Given the description of an element on the screen output the (x, y) to click on. 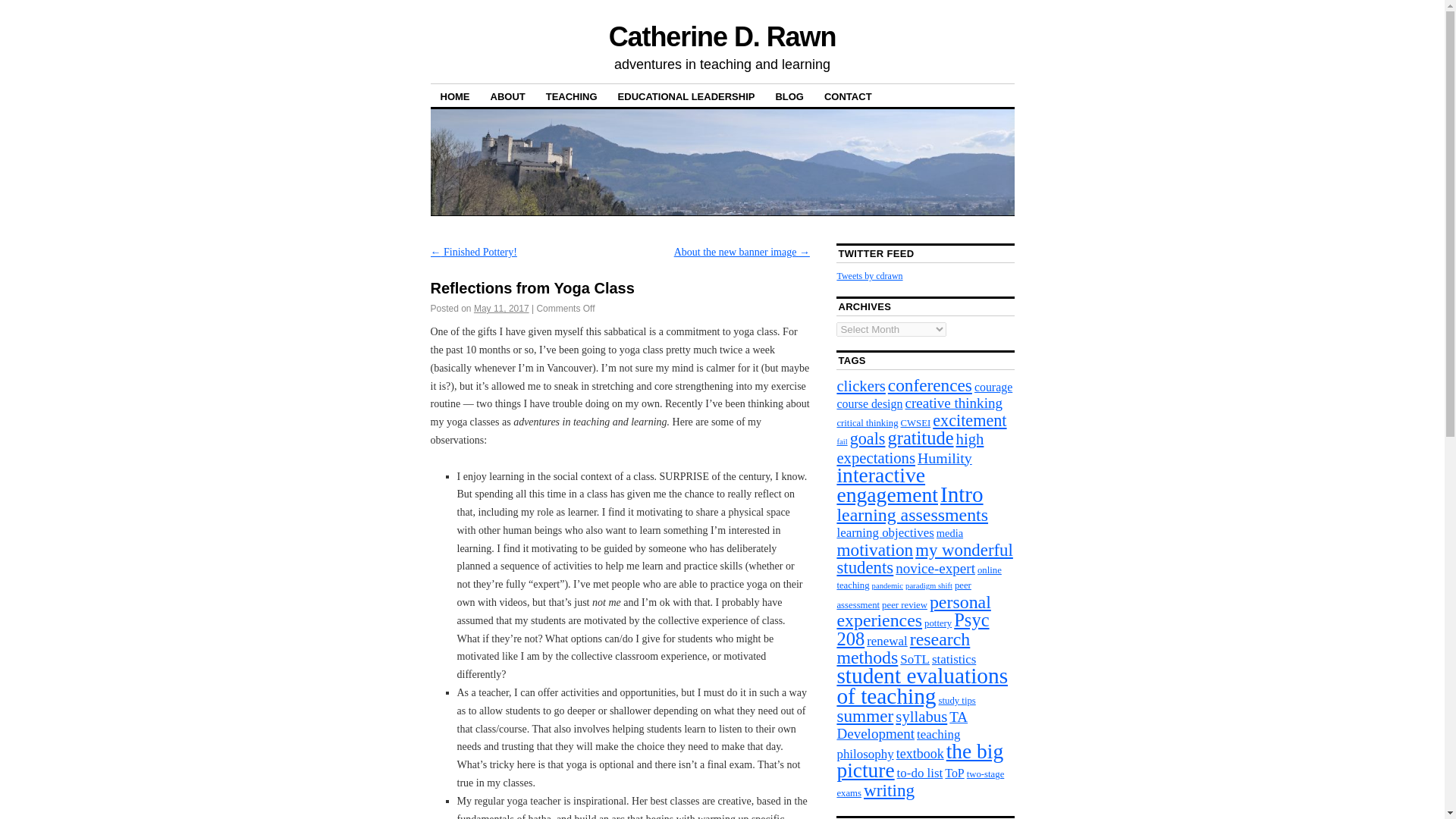
fail (841, 441)
critical thinking (866, 422)
May 11, 2017 (501, 308)
courage (992, 386)
Catherine D. Rawn (721, 36)
conferences (930, 384)
ABOUT (507, 96)
10:05 am (501, 308)
CONTACT (847, 96)
goals (867, 438)
TEACHING (571, 96)
course design (868, 403)
excitement (969, 420)
CWSEI (916, 422)
gratitude (919, 437)
